Given the description of an element on the screen output the (x, y) to click on. 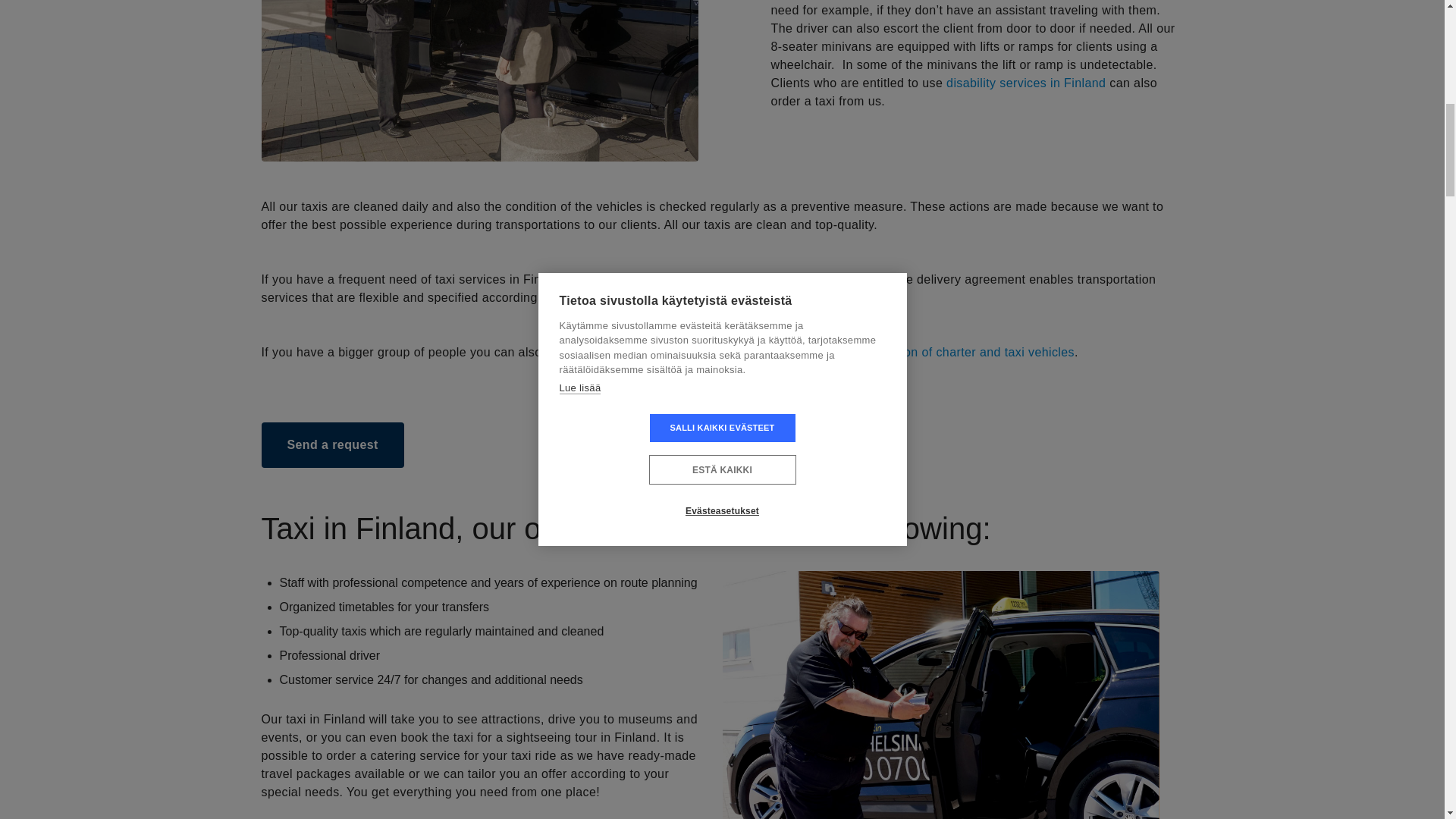
disability services in Finland (1025, 82)
charter bus service (643, 351)
